Given the description of an element on the screen output the (x, y) to click on. 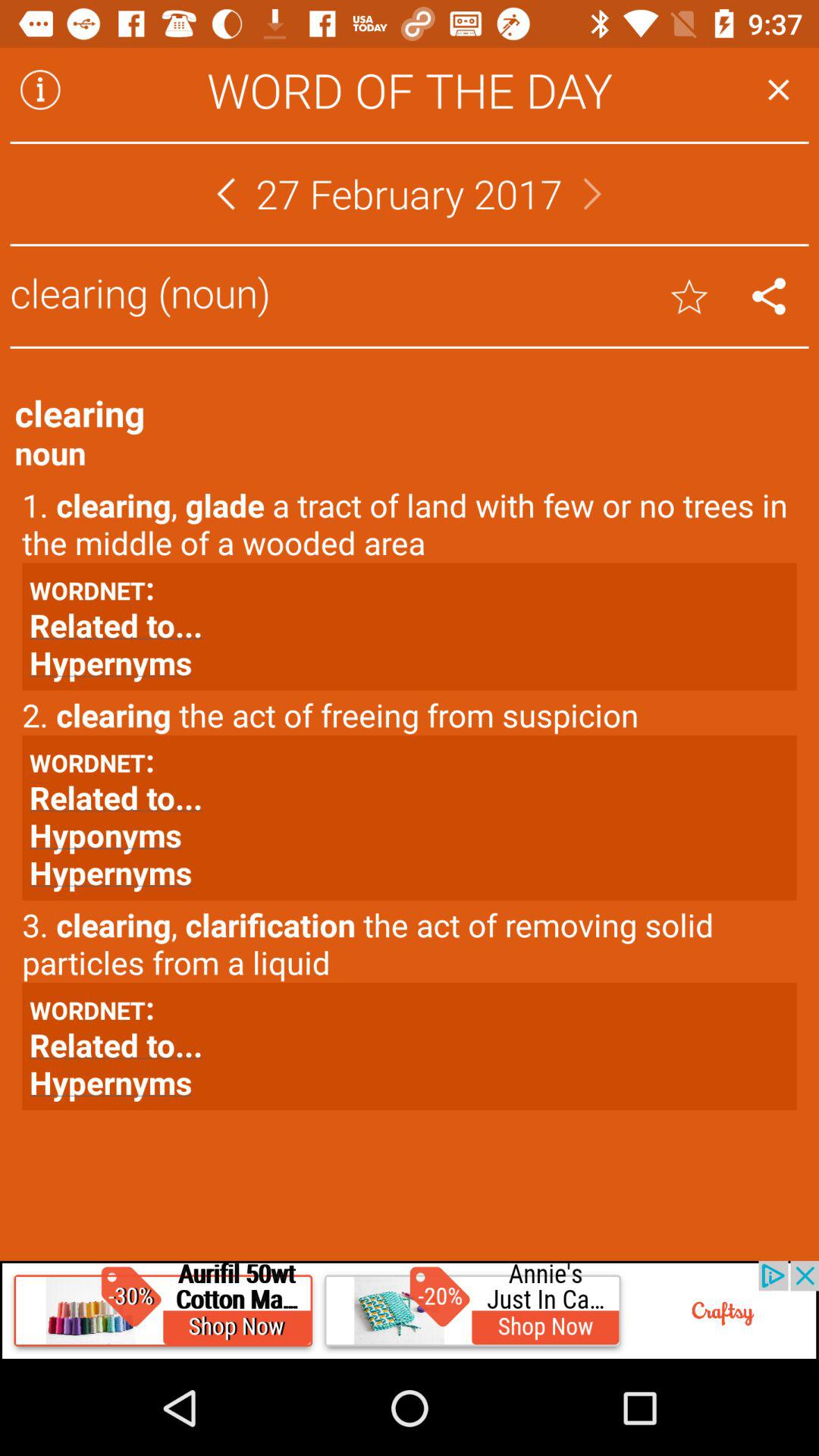
previou page (225, 193)
